Given the description of an element on the screen output the (x, y) to click on. 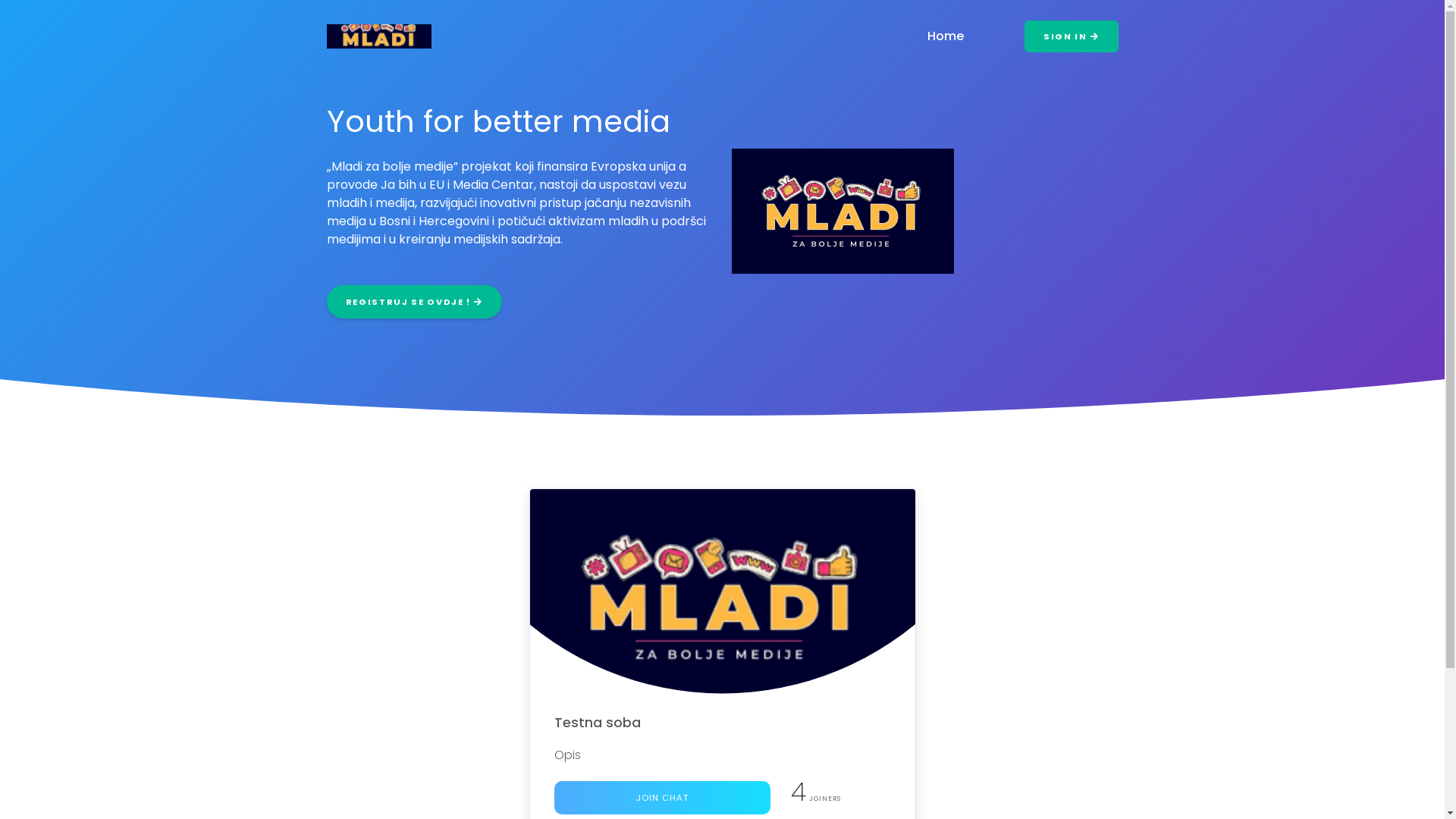
JOIN CHAT Element type: text (661, 797)
REGISTRUJ SE OVDJE ! Element type: text (413, 301)
SIGN IN Element type: text (1070, 36)
Home Element type: text (945, 36)
